Given the description of an element on the screen output the (x, y) to click on. 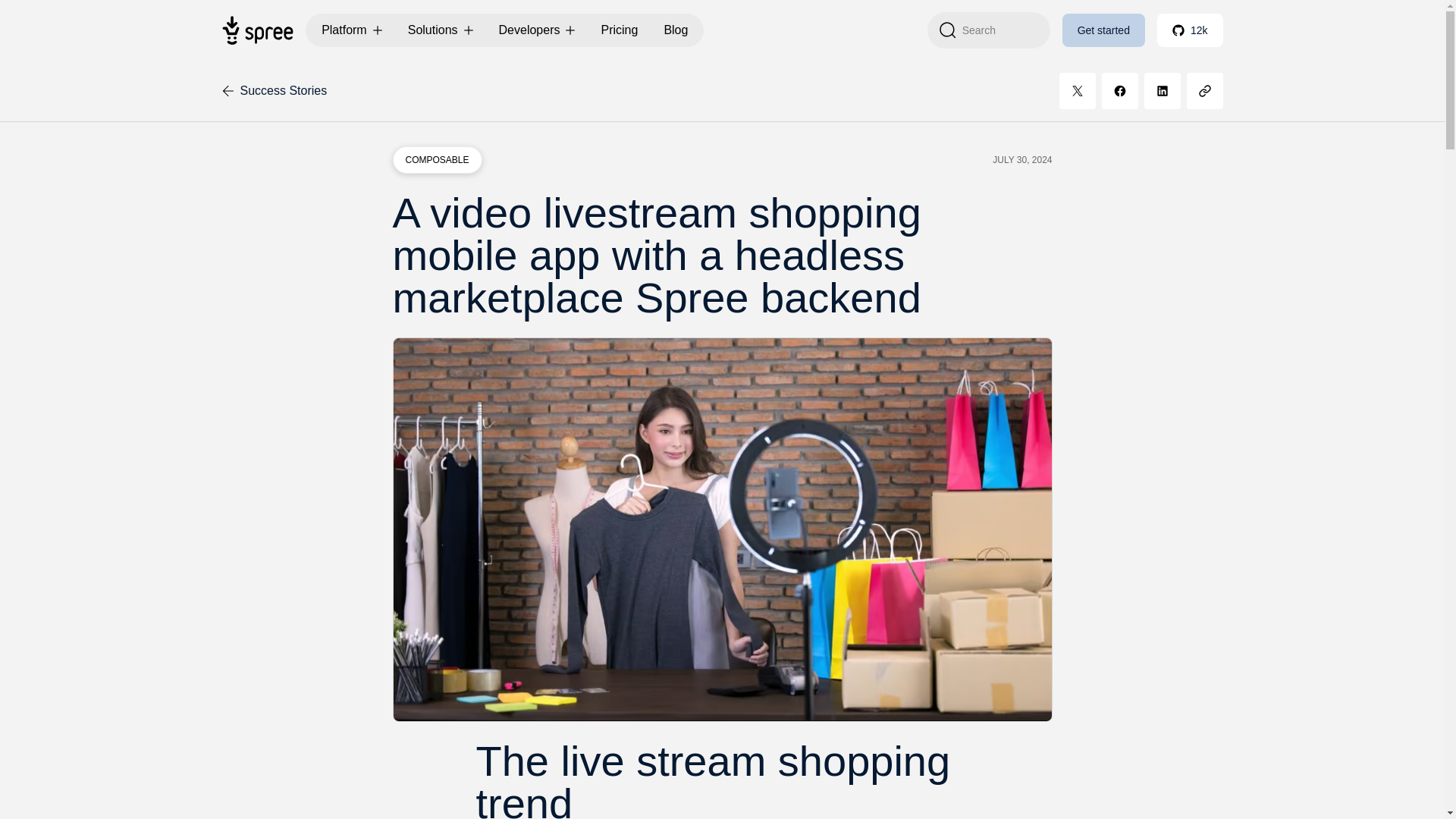
Platform (351, 29)
12k (1190, 29)
COMPOSABLE (437, 159)
Blog (675, 29)
Developers (537, 29)
Get started (1103, 29)
Solutions (440, 29)
Success Stories (273, 90)
Pricing (619, 29)
